Given the description of an element on the screen output the (x, y) to click on. 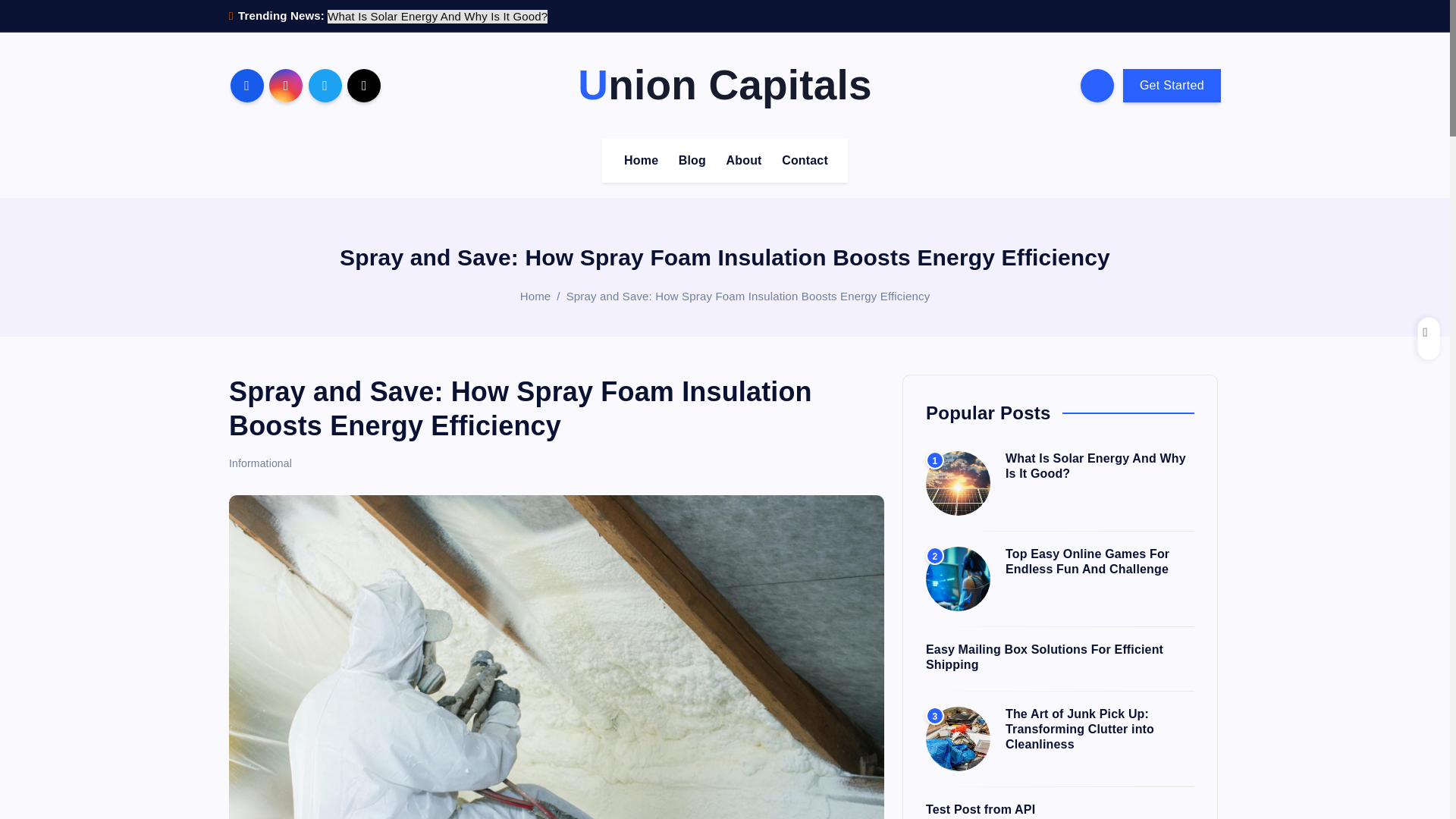
About (744, 159)
Home (640, 159)
Contact (805, 159)
Blog (691, 159)
Blog (691, 159)
Informational (260, 462)
About (744, 159)
Home (535, 295)
Home (640, 159)
Contact (805, 159)
Get Started (1171, 84)
Union Capitals (724, 85)
